Given the description of an element on the screen output the (x, y) to click on. 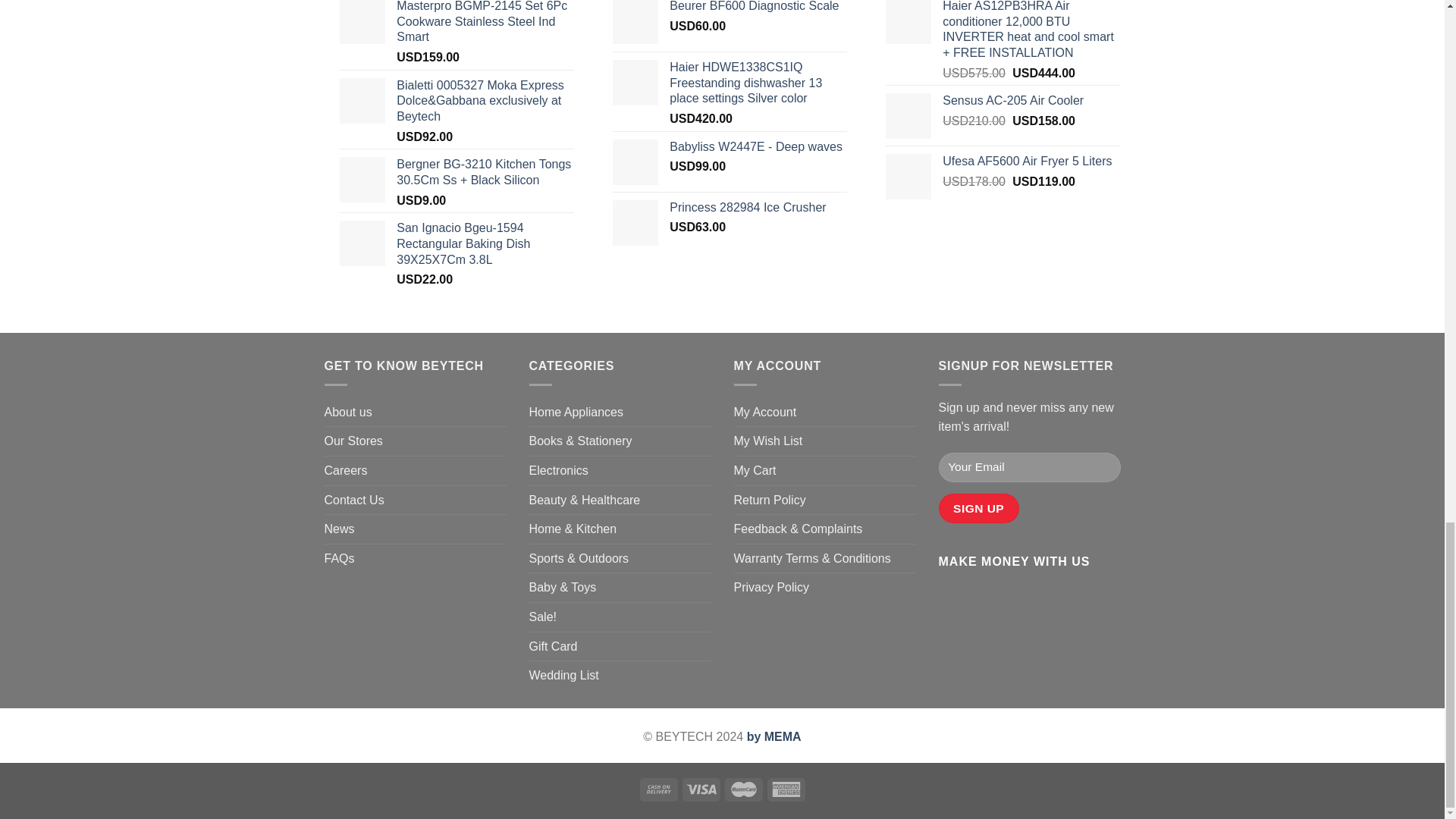
Sign Up (979, 508)
